Given the description of an element on the screen output the (x, y) to click on. 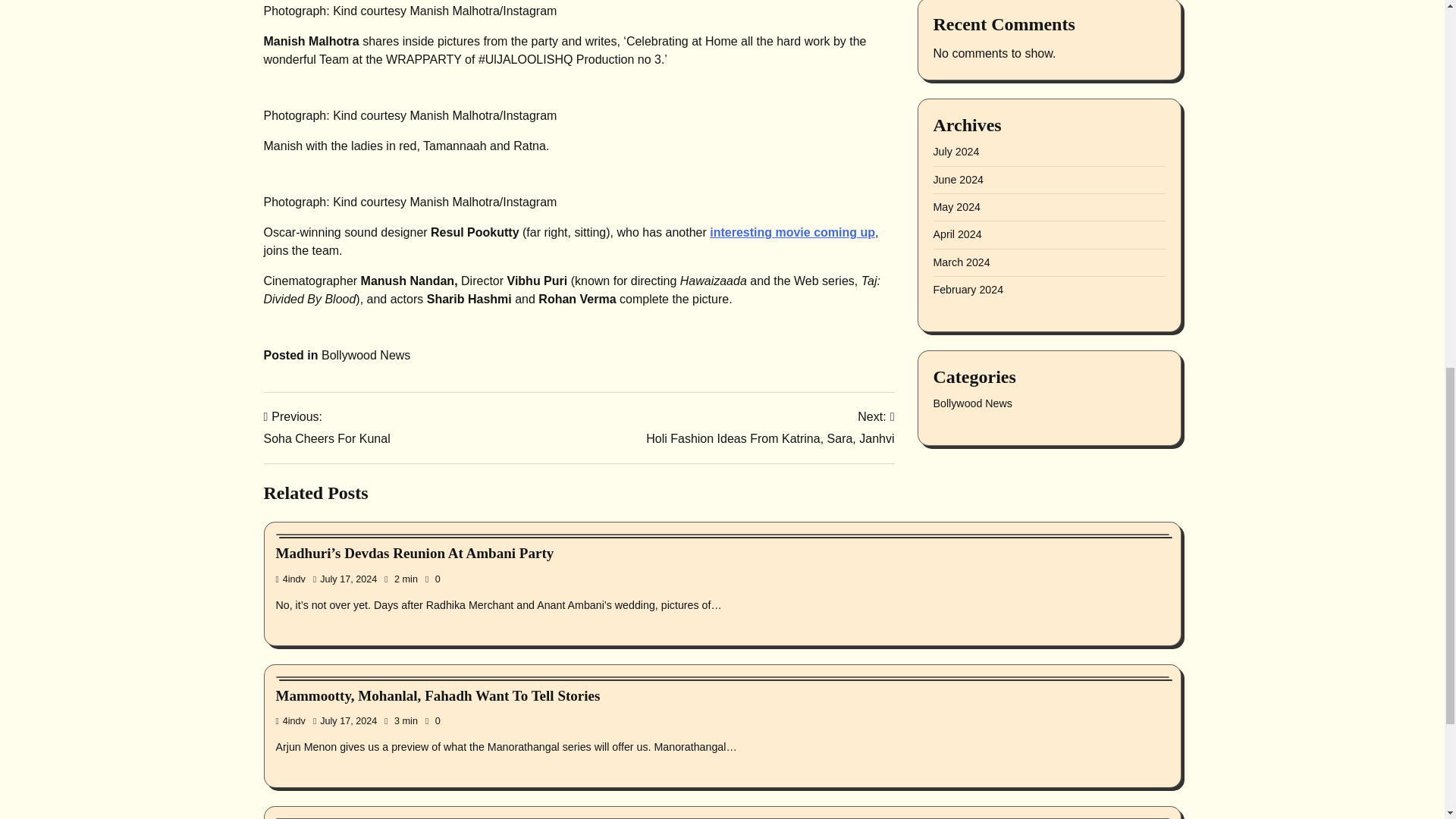
Bollywood News (365, 354)
interesting movie coming up (792, 232)
Mammootty, Mohanlal, Fahadh Want To Tell Stories (437, 695)
4indv (326, 427)
Bollywood News (769, 427)
4indv (290, 720)
